Given the description of an element on the screen output the (x, y) to click on. 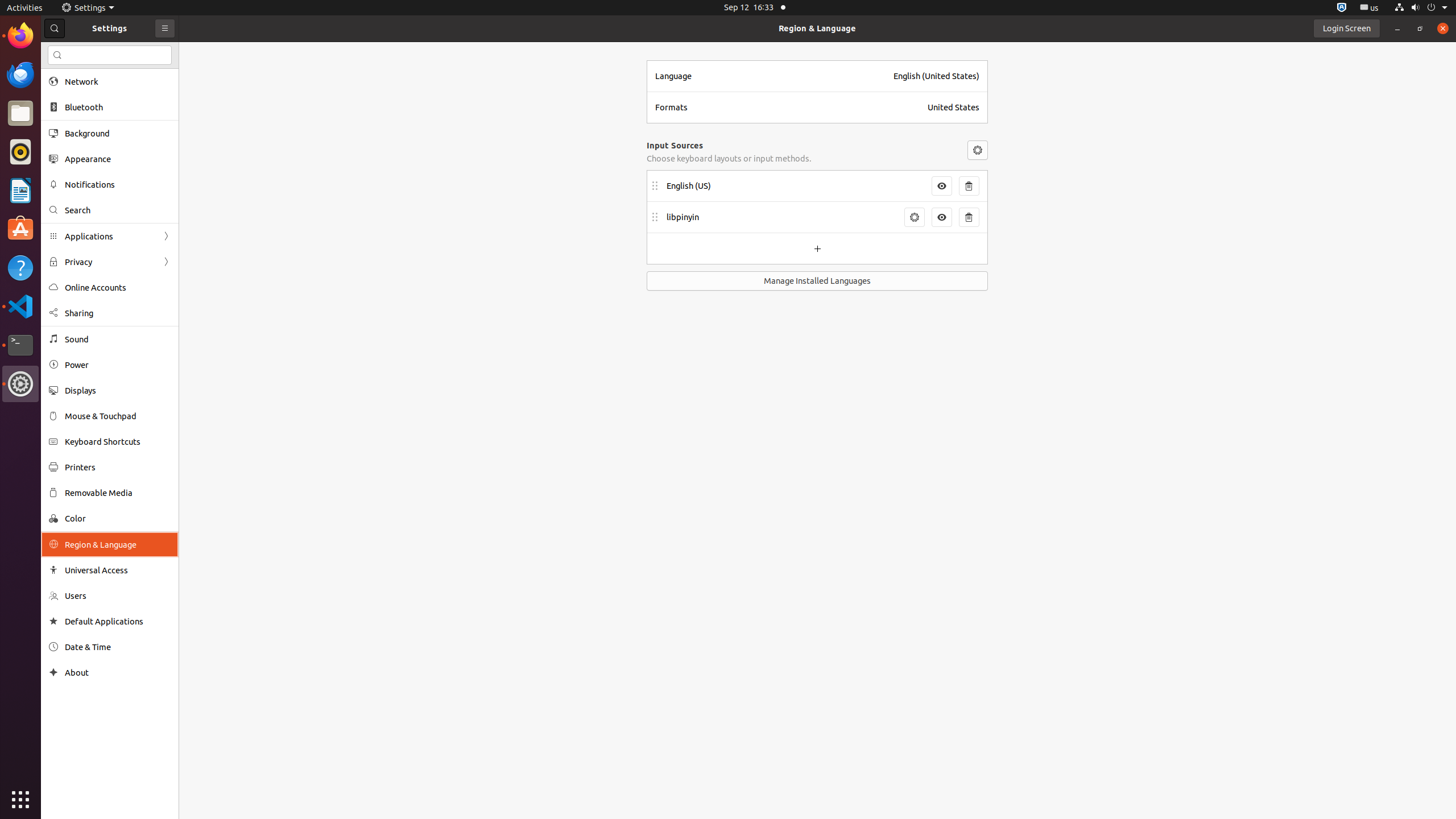
Settings Element type: push-button (20, 383)
Sound Element type: label (117, 339)
Firefox Web Browser Element type: push-button (20, 35)
Language Element type: label (770, 75)
